Given the description of an element on the screen output the (x, y) to click on. 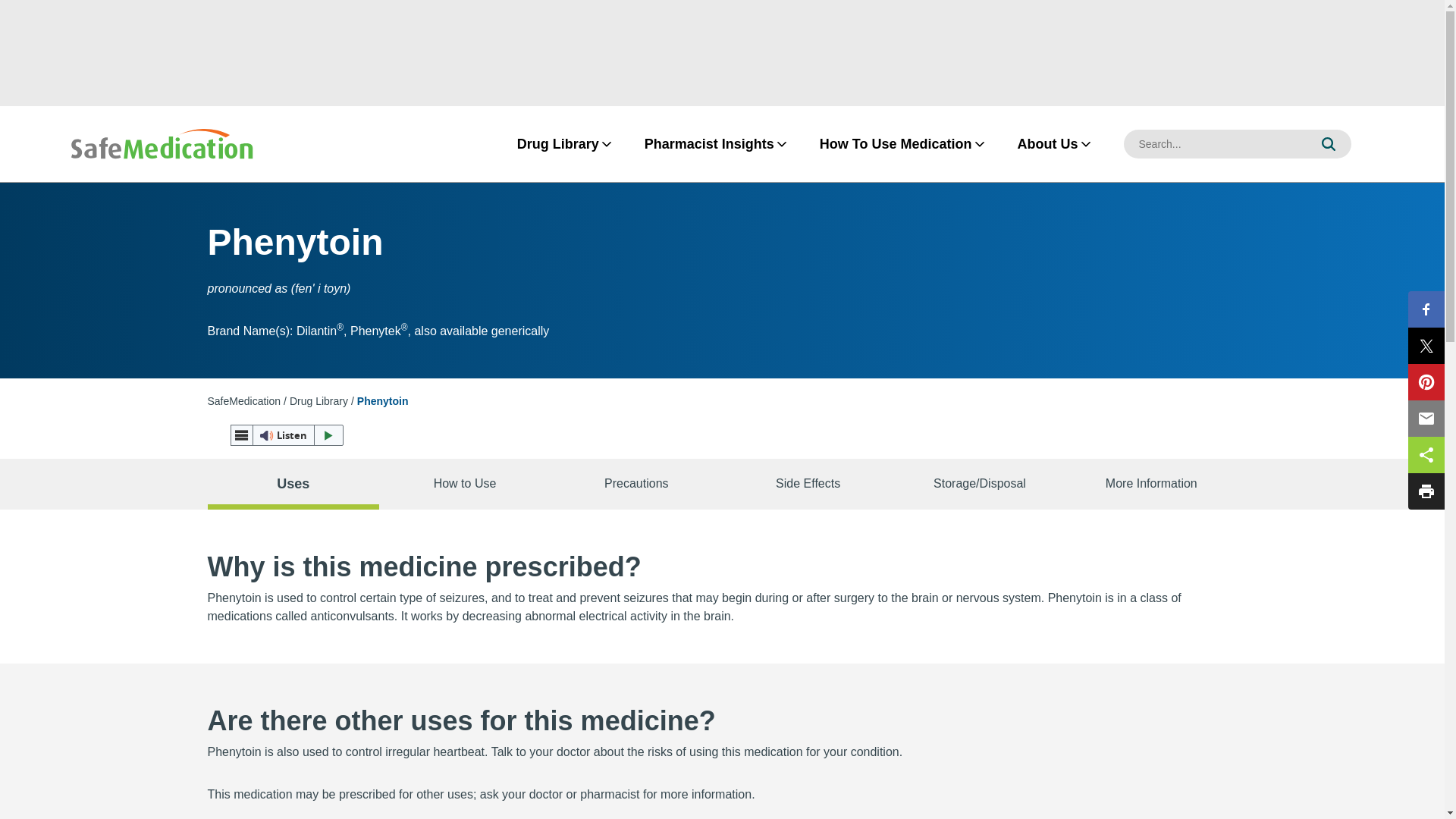
Precautions (636, 483)
SafeMedication (244, 400)
About Us (1047, 143)
How To Use Medication (895, 143)
How to Use (464, 483)
Drug Library (558, 143)
webReader menu (241, 435)
Insert a query. Press enter to send (1215, 143)
Drug Library (318, 400)
Side Effects (807, 483)
